Given the description of an element on the screen output the (x, y) to click on. 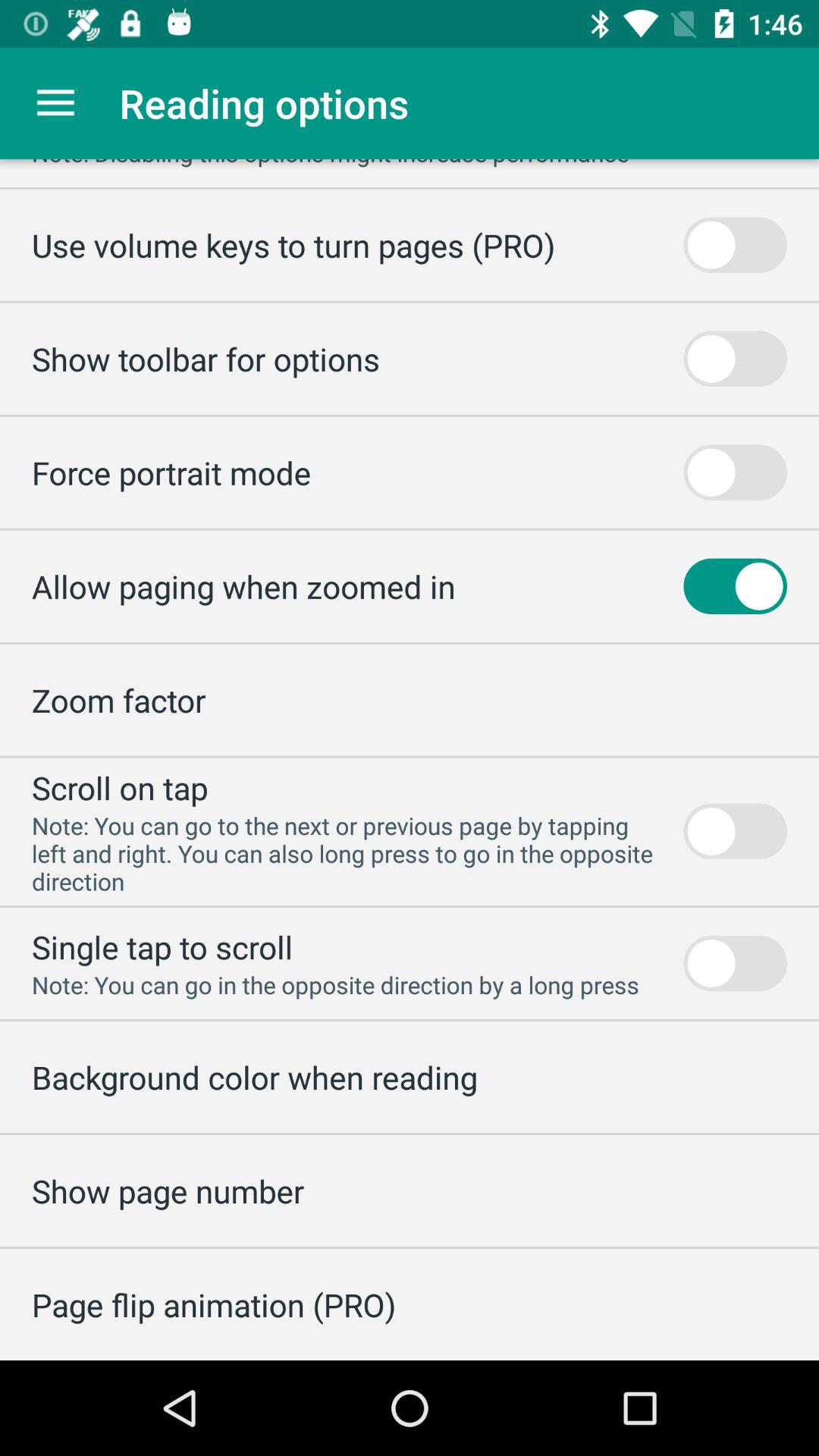
tap the use volume keys (293, 244)
